Given the description of an element on the screen output the (x, y) to click on. 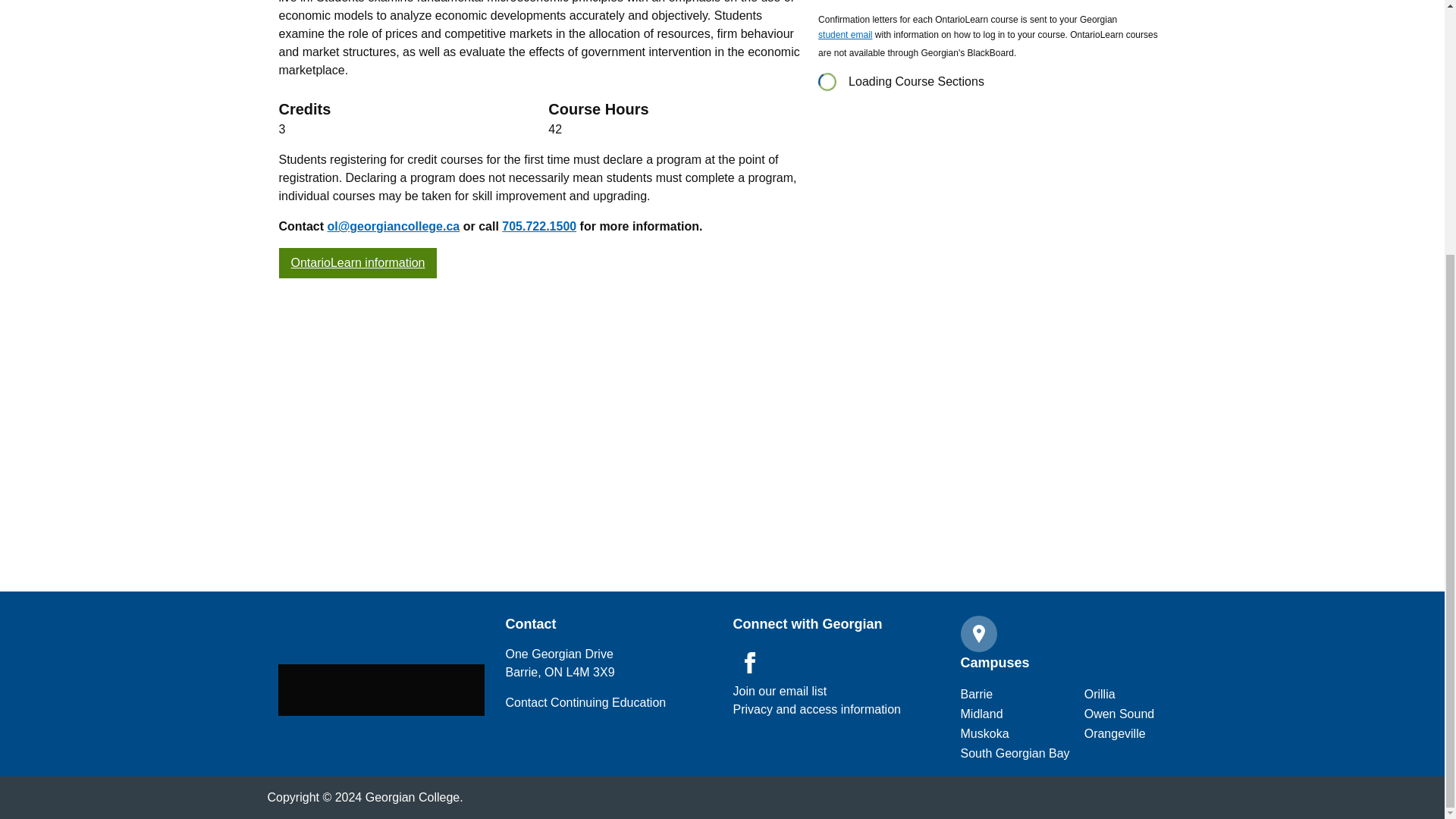
Contact Us (585, 701)
Georgian College Student Email (845, 36)
Georgian College (380, 689)
OntarioLearn (358, 263)
Privacy and access information (815, 710)
Privacy and access information (779, 691)
